Given the description of an element on the screen output the (x, y) to click on. 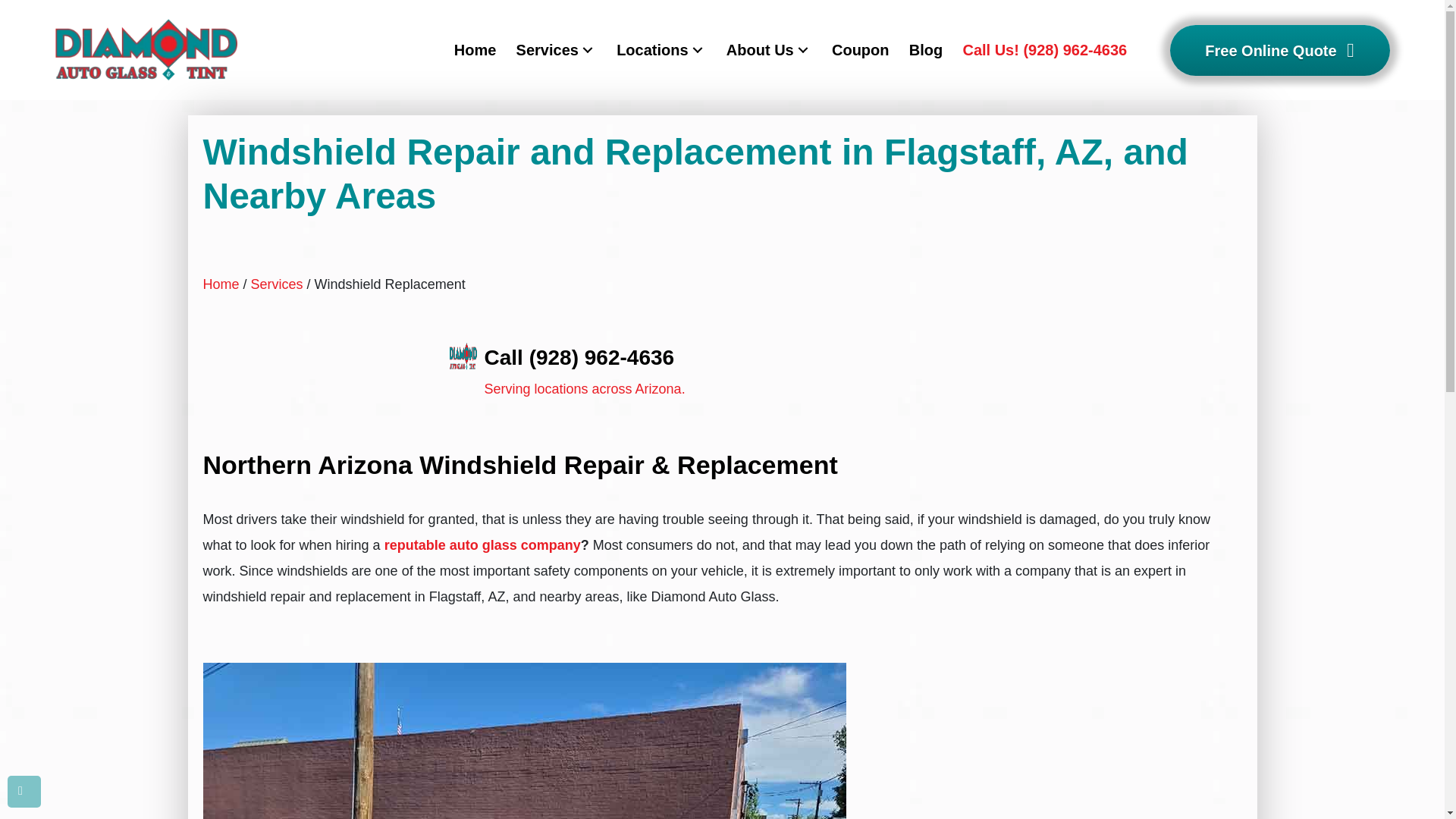
Locations (660, 49)
Home (474, 49)
Windshield Replacement (524, 740)
Services (556, 49)
diamond-auto-glass (145, 49)
